Given the description of an element on the screen output the (x, y) to click on. 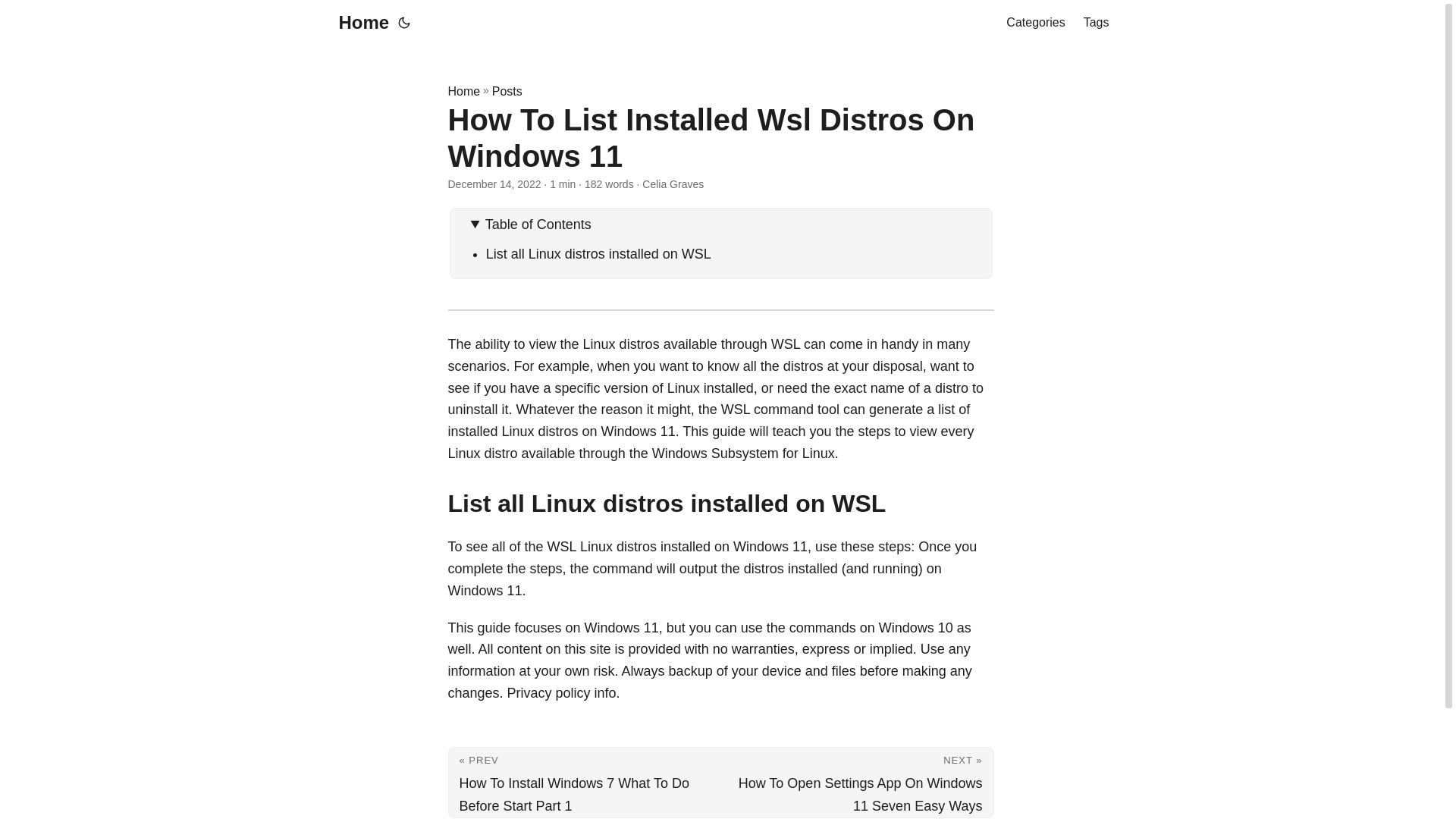
Posts (507, 91)
List all Linux distros installed on WSL (598, 253)
Home (463, 91)
Home (359, 22)
Categories (1035, 22)
Categories (1035, 22)
